Given the description of an element on the screen output the (x, y) to click on. 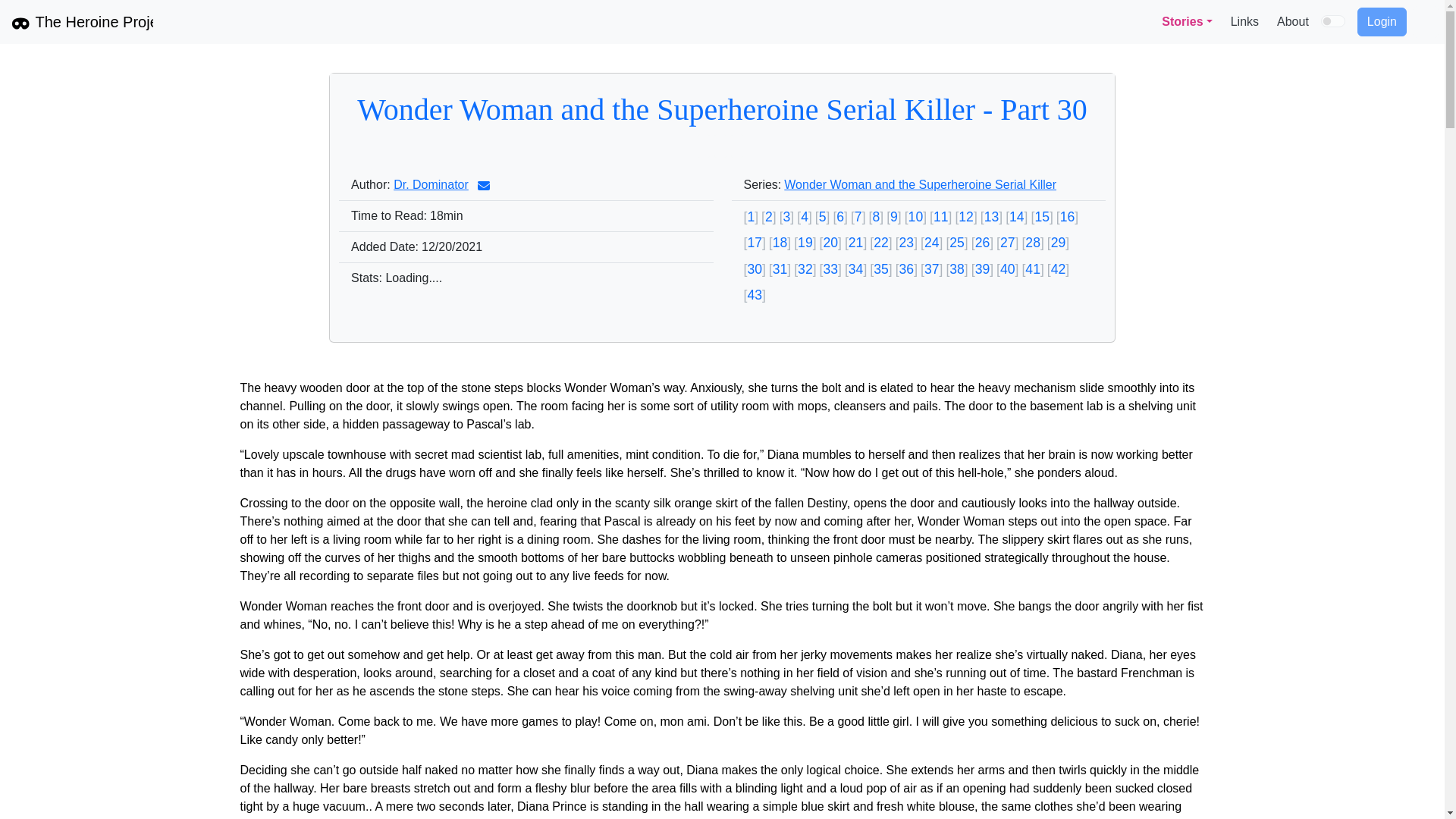
Links (1244, 21)
Login (1381, 21)
Stories (1186, 21)
3 (786, 216)
10 (915, 216)
9 (893, 216)
2 (768, 216)
13 (991, 216)
4 (804, 216)
16 (1067, 216)
12 (965, 216)
5 (822, 216)
The Heroine Project (81, 21)
11 (941, 216)
Dr. Dominator (430, 184)
